Given the description of an element on the screen output the (x, y) to click on. 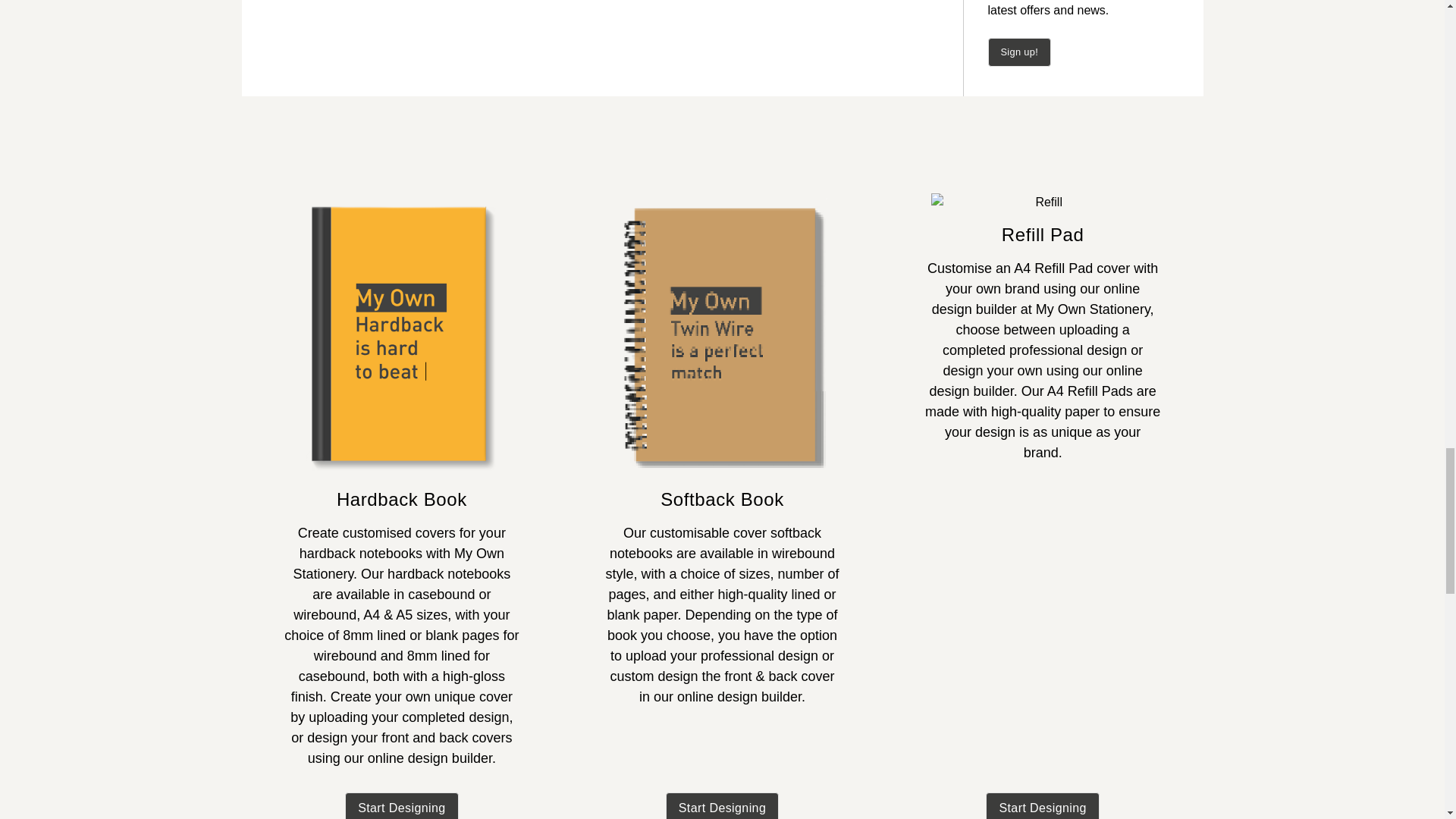
Start Designing (1042, 805)
Start Designing (401, 805)
Start Designing (721, 805)
